Given the description of an element on the screen output the (x, y) to click on. 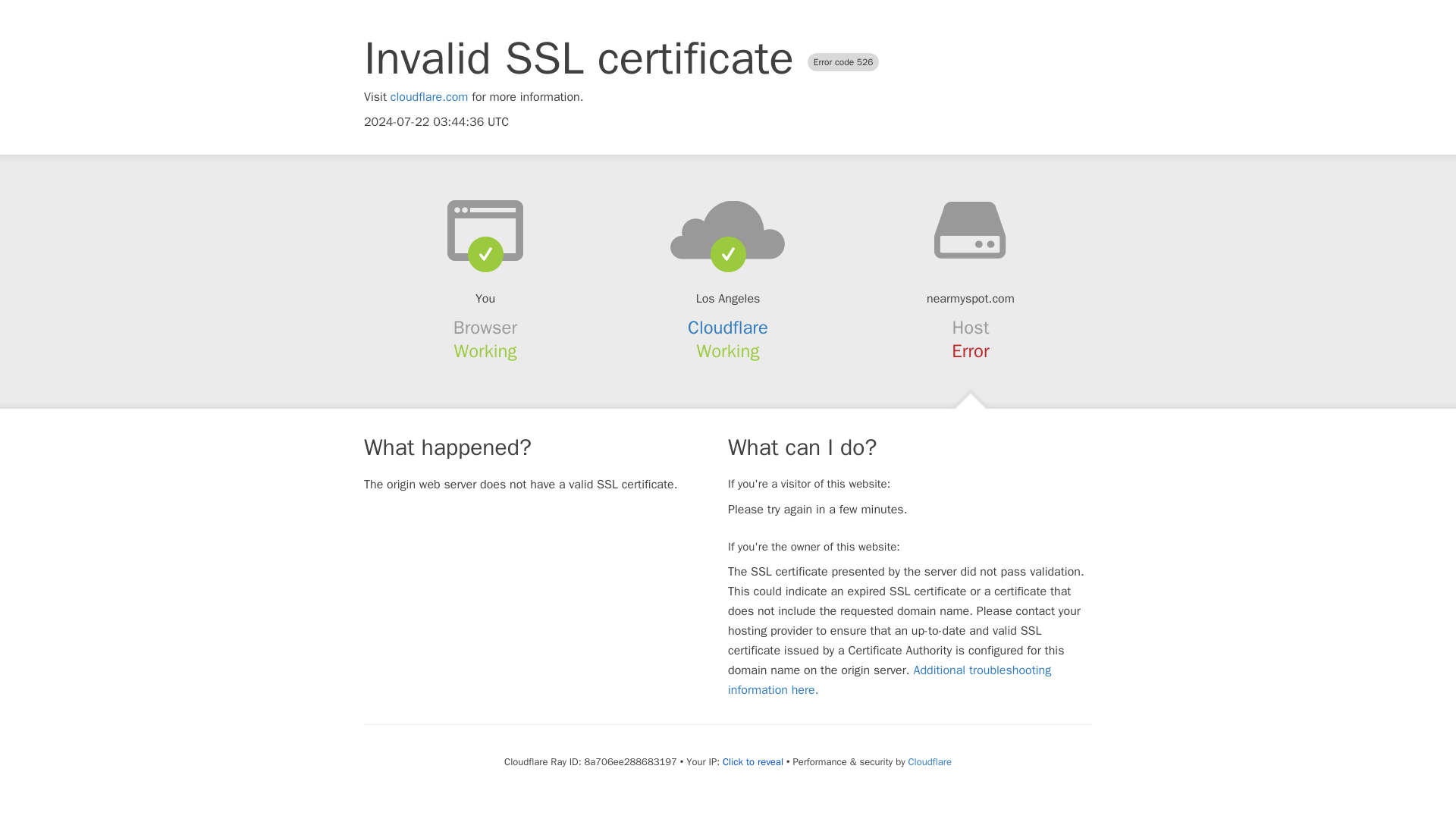
cloudflare.com (429, 96)
Cloudflare (930, 761)
Additional troubleshooting information here. (889, 679)
Cloudflare (727, 327)
Click to reveal (752, 762)
